Given the description of an element on the screen output the (x, y) to click on. 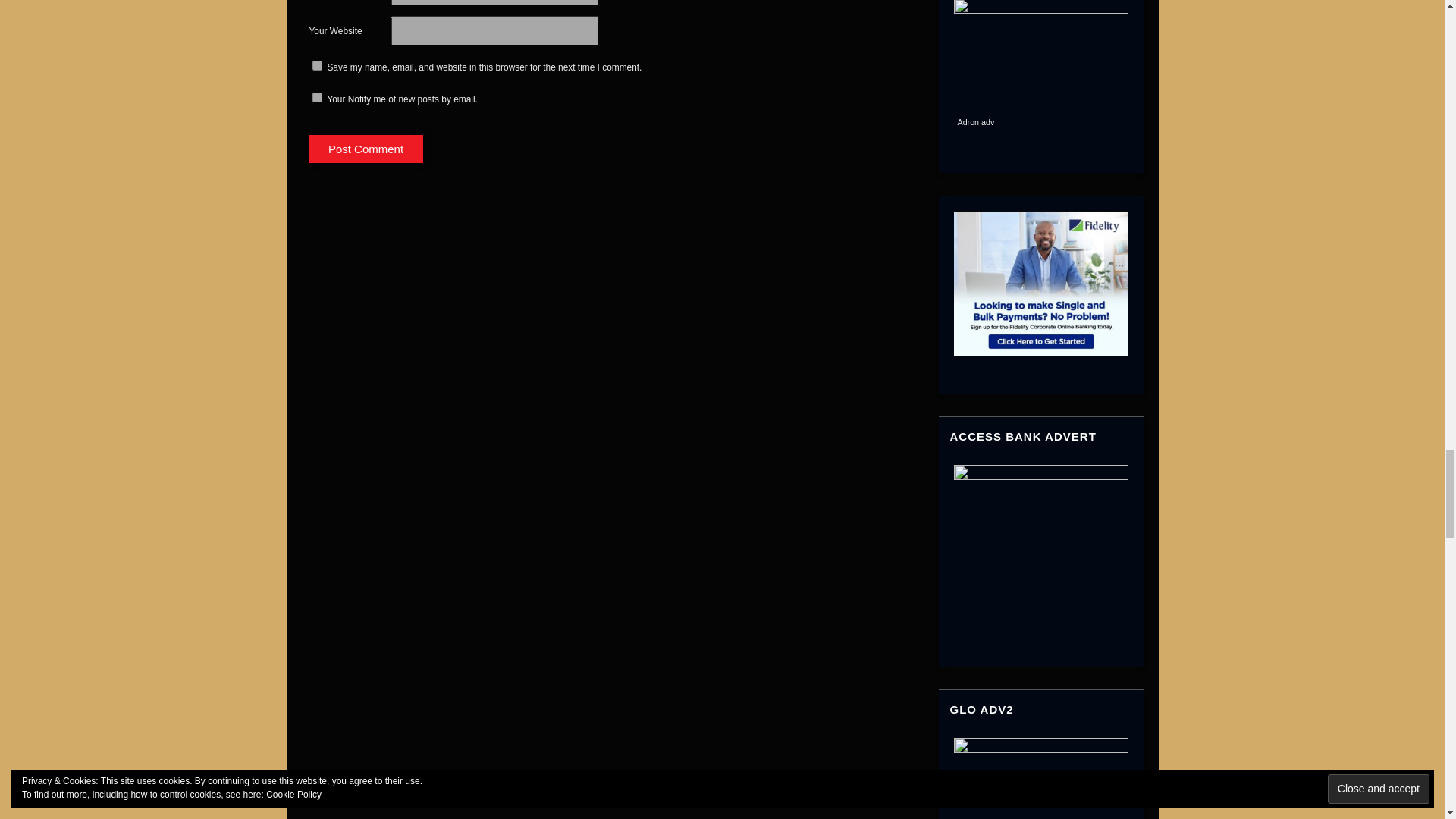
yes (317, 65)
subscribe (317, 97)
Post Comment (365, 148)
